Given the description of an element on the screen output the (x, y) to click on. 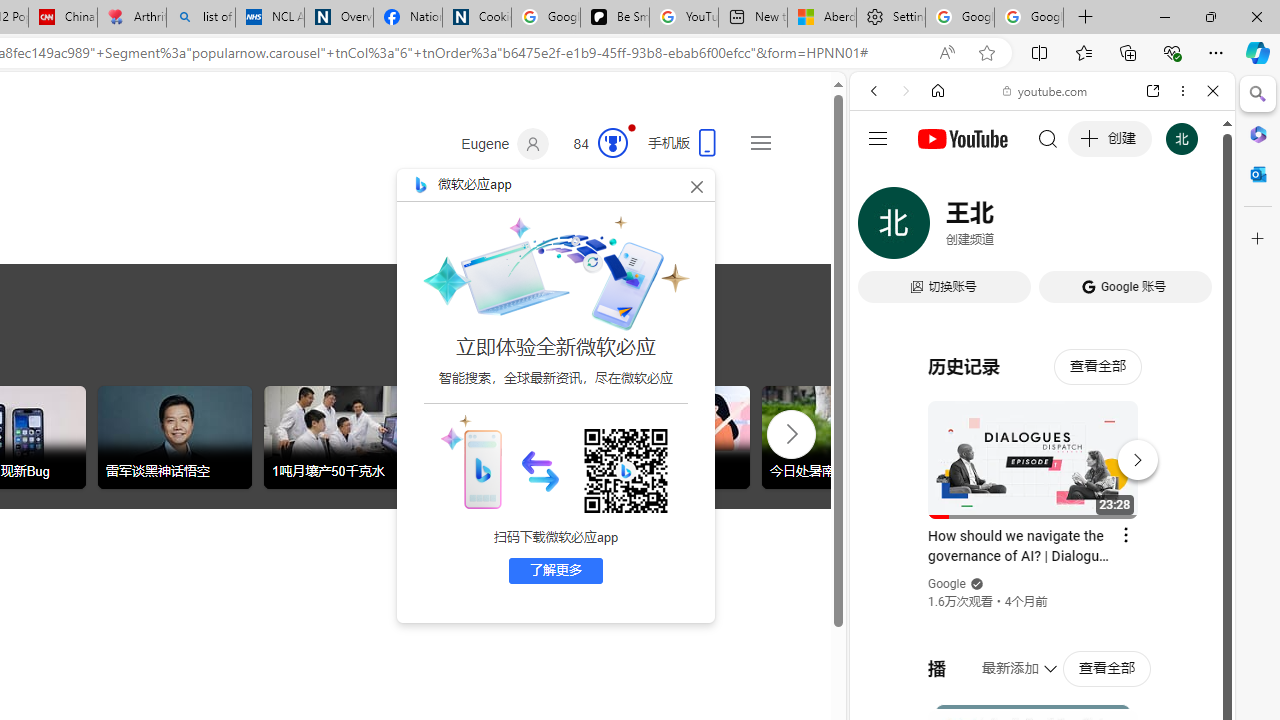
Preferences (1189, 228)
Minimize (1164, 16)
Search Filter, WEB (882, 228)
Browser essentials (1171, 52)
New Tab (1085, 17)
Music (1042, 543)
Search (1258, 94)
Arthritis: Ask Health Professionals (132, 17)
Copilot (Ctrl+Shift+.) (1258, 52)
Search Filter, Search Tools (1093, 228)
